Given the description of an element on the screen output the (x, y) to click on. 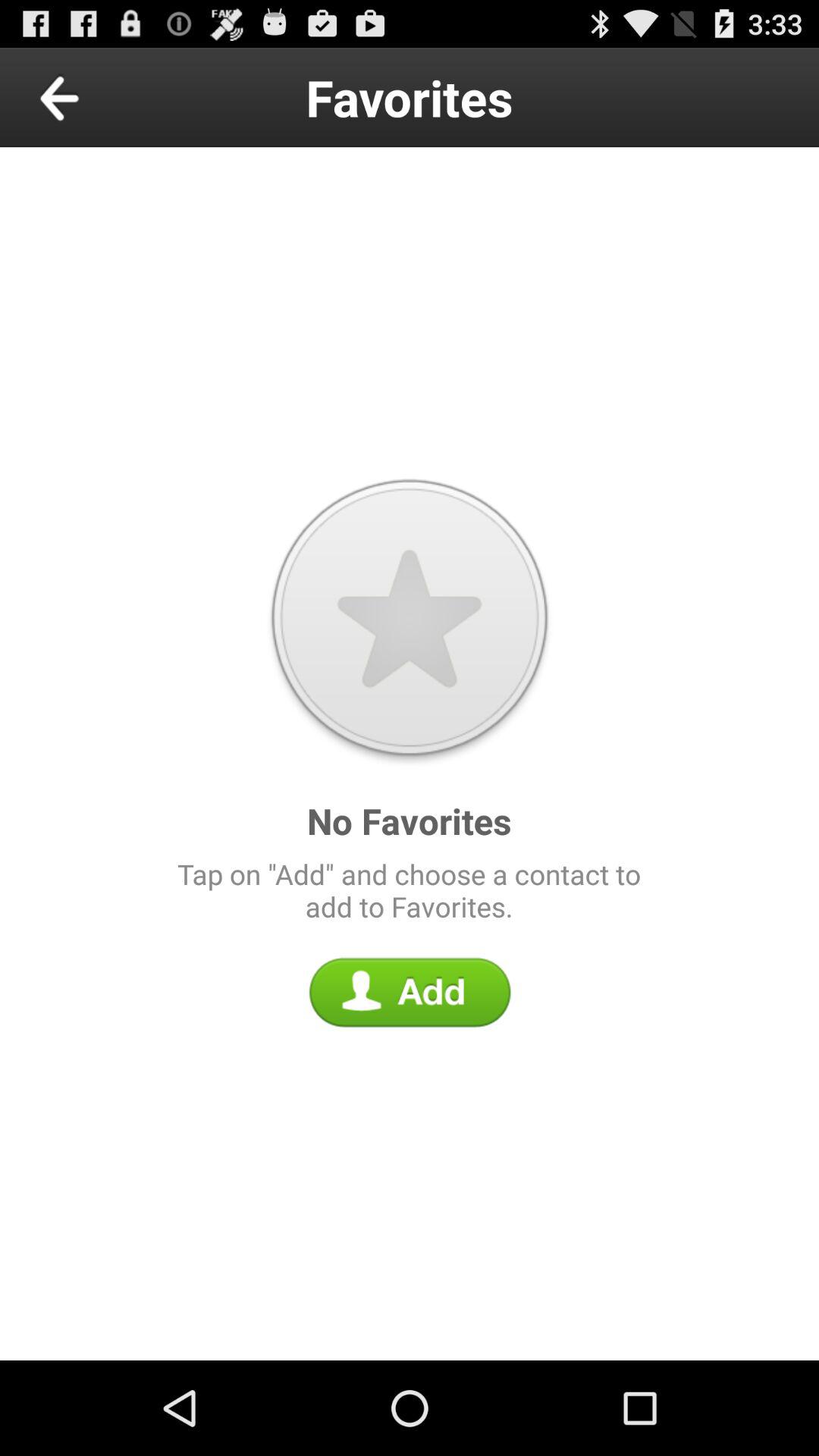
choose the icon above the tap on add (94, 97)
